Given the description of an element on the screen output the (x, y) to click on. 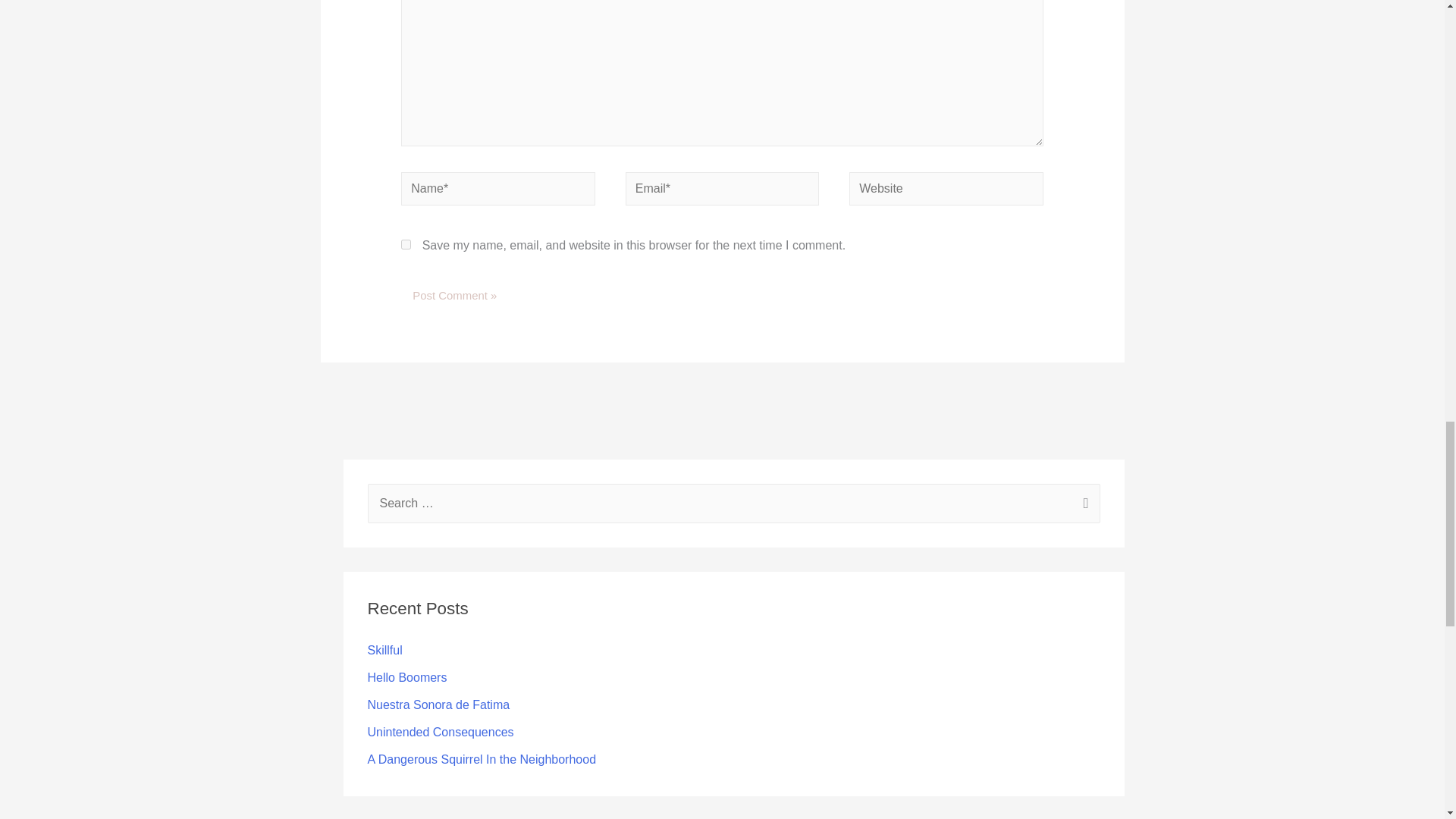
Nuestra Sonora de Fatima (437, 704)
A Dangerous Squirrel In the Neighborhood (480, 758)
Hello Boomers (406, 676)
Unintended Consequences (439, 731)
yes (405, 244)
Skillful (383, 649)
